Given the description of an element on the screen output the (x, y) to click on. 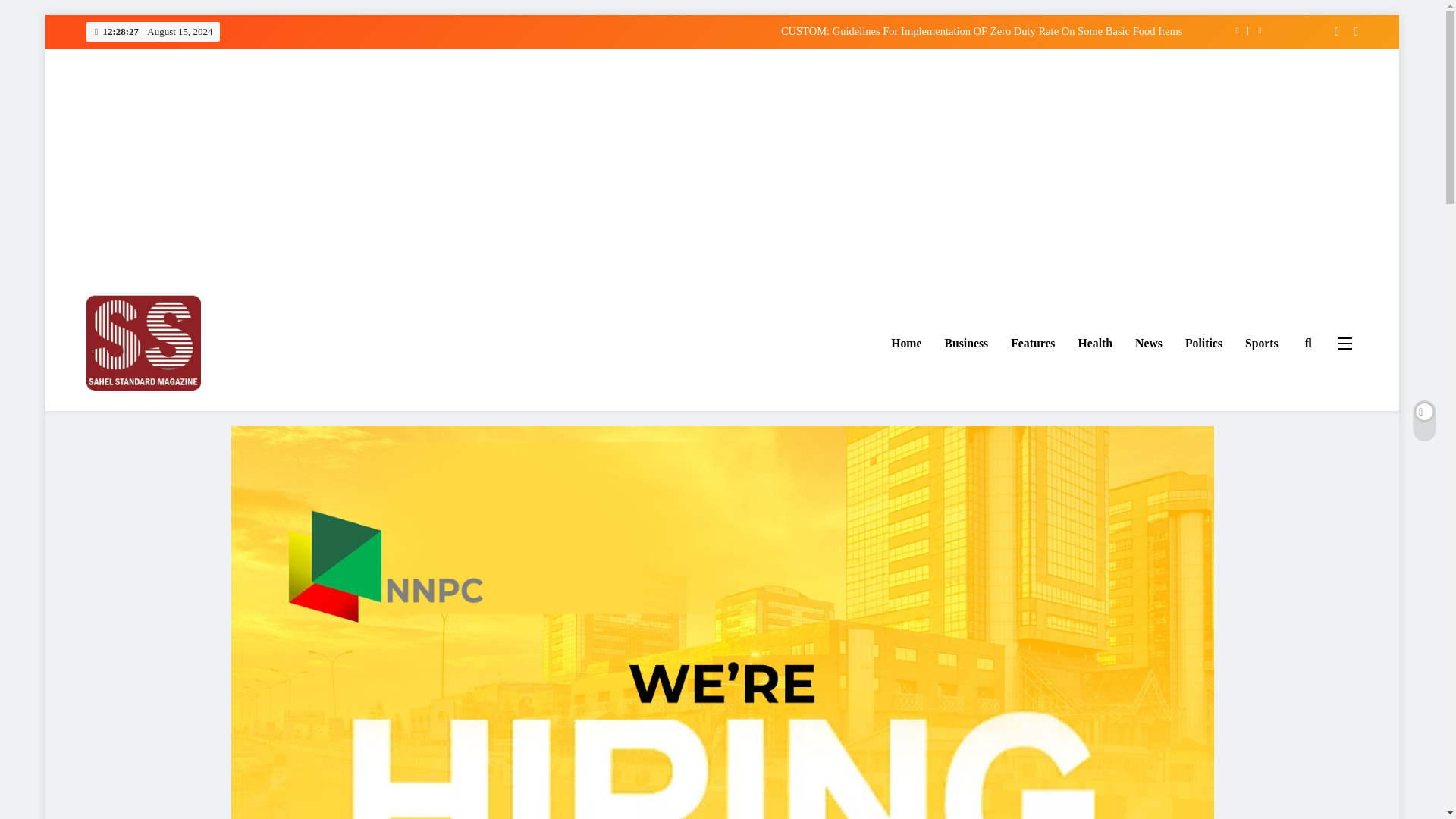
Health (1095, 342)
Sports (1261, 342)
Politics (1203, 342)
Features (1031, 342)
Sahel Standard (162, 412)
News (1148, 342)
Home (906, 342)
